Given the description of an element on the screen output the (x, y) to click on. 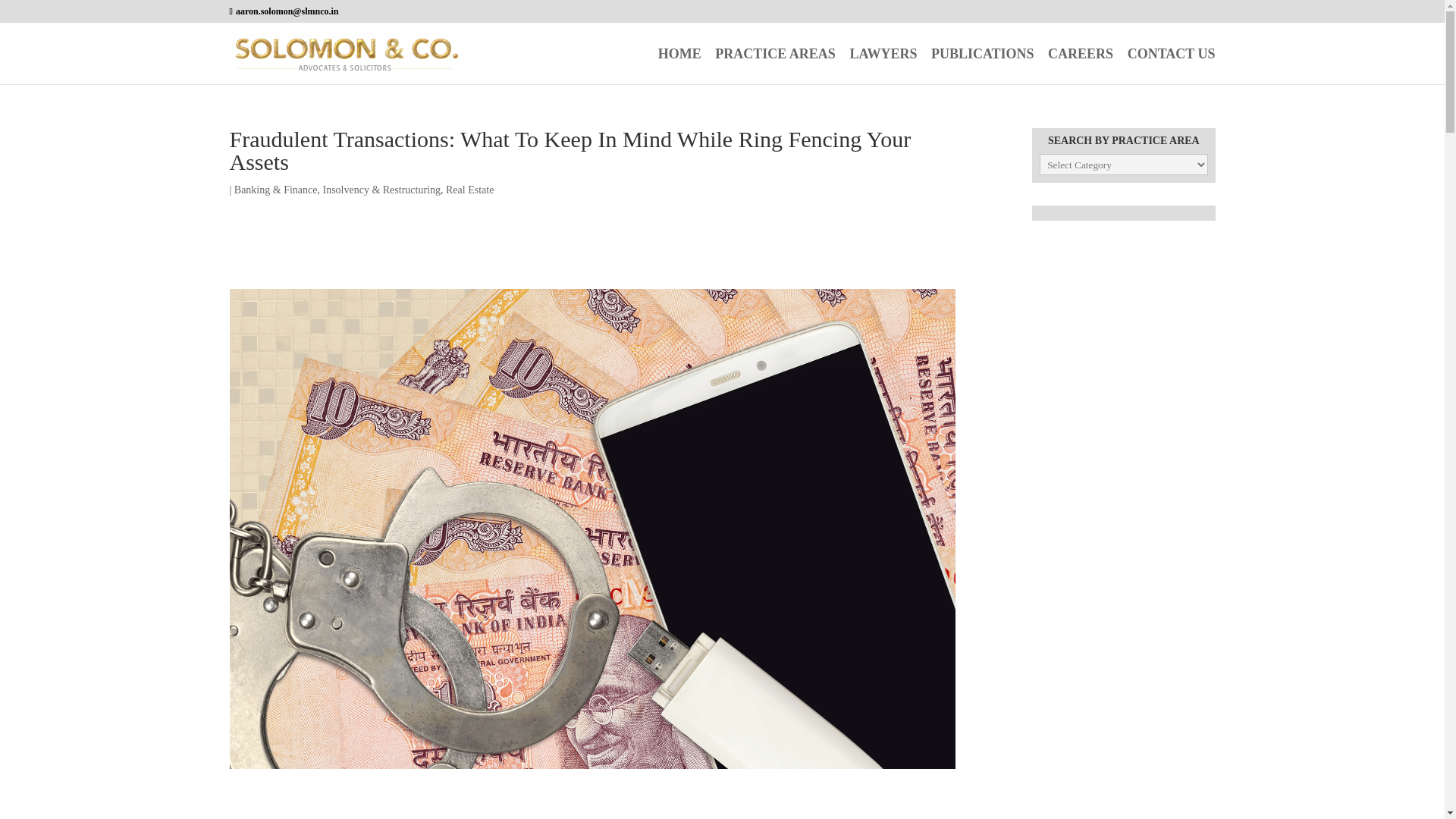
CONTACT US (1170, 66)
LAWYERS (882, 66)
HOME (679, 66)
PUBLICATIONS (982, 66)
PRACTICE AREAS (774, 66)
CAREERS (1080, 66)
